Given the description of an element on the screen output the (x, y) to click on. 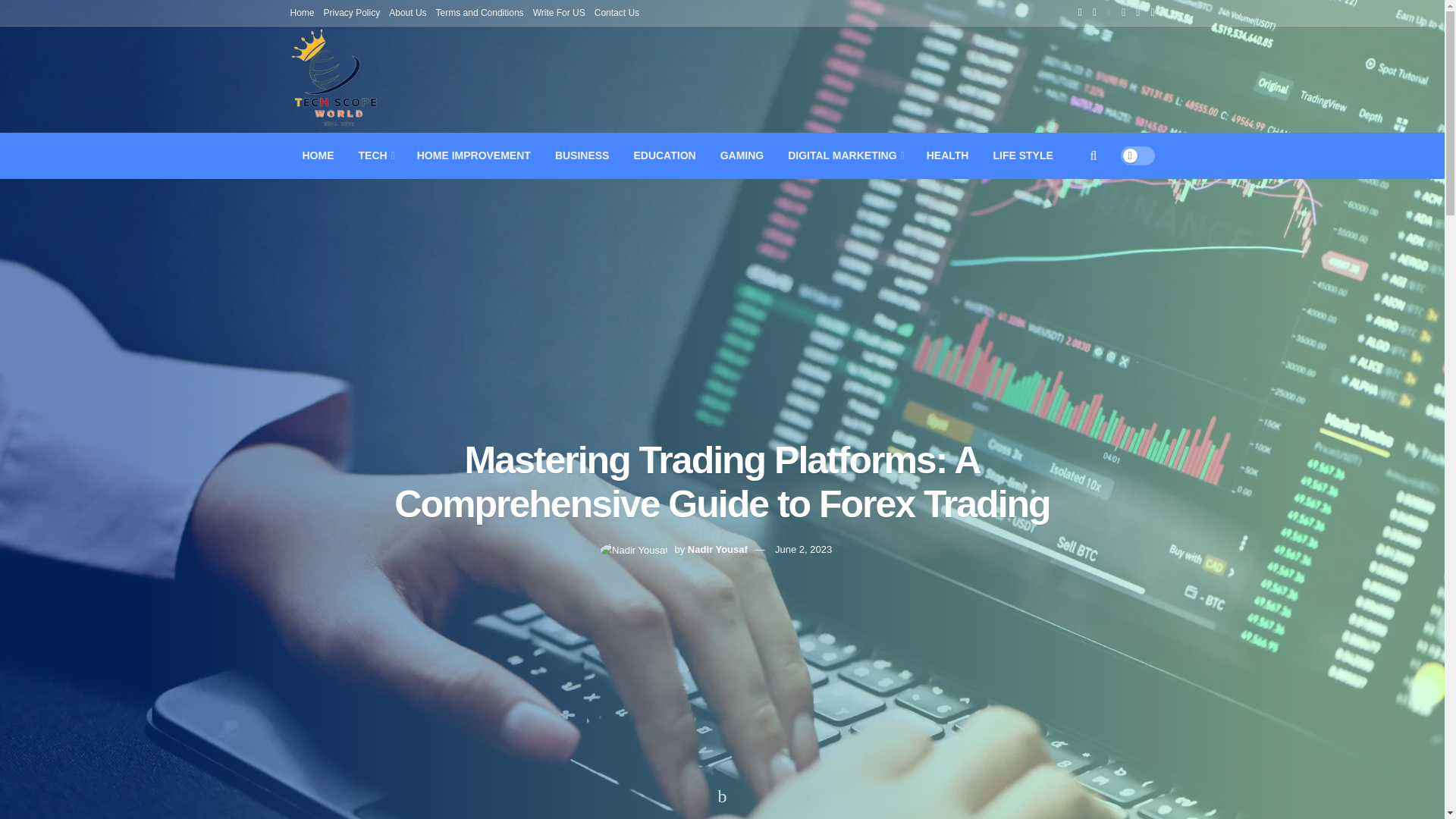
BUSINESS (582, 155)
Terms and Conditions (479, 12)
Write For US (558, 12)
TECH (375, 155)
HOME (317, 155)
HEALTH (947, 155)
LIFE STYLE (1021, 155)
DIGITAL MARKETING (845, 155)
About Us (407, 12)
Contact Us (616, 12)
